Given the description of an element on the screen output the (x, y) to click on. 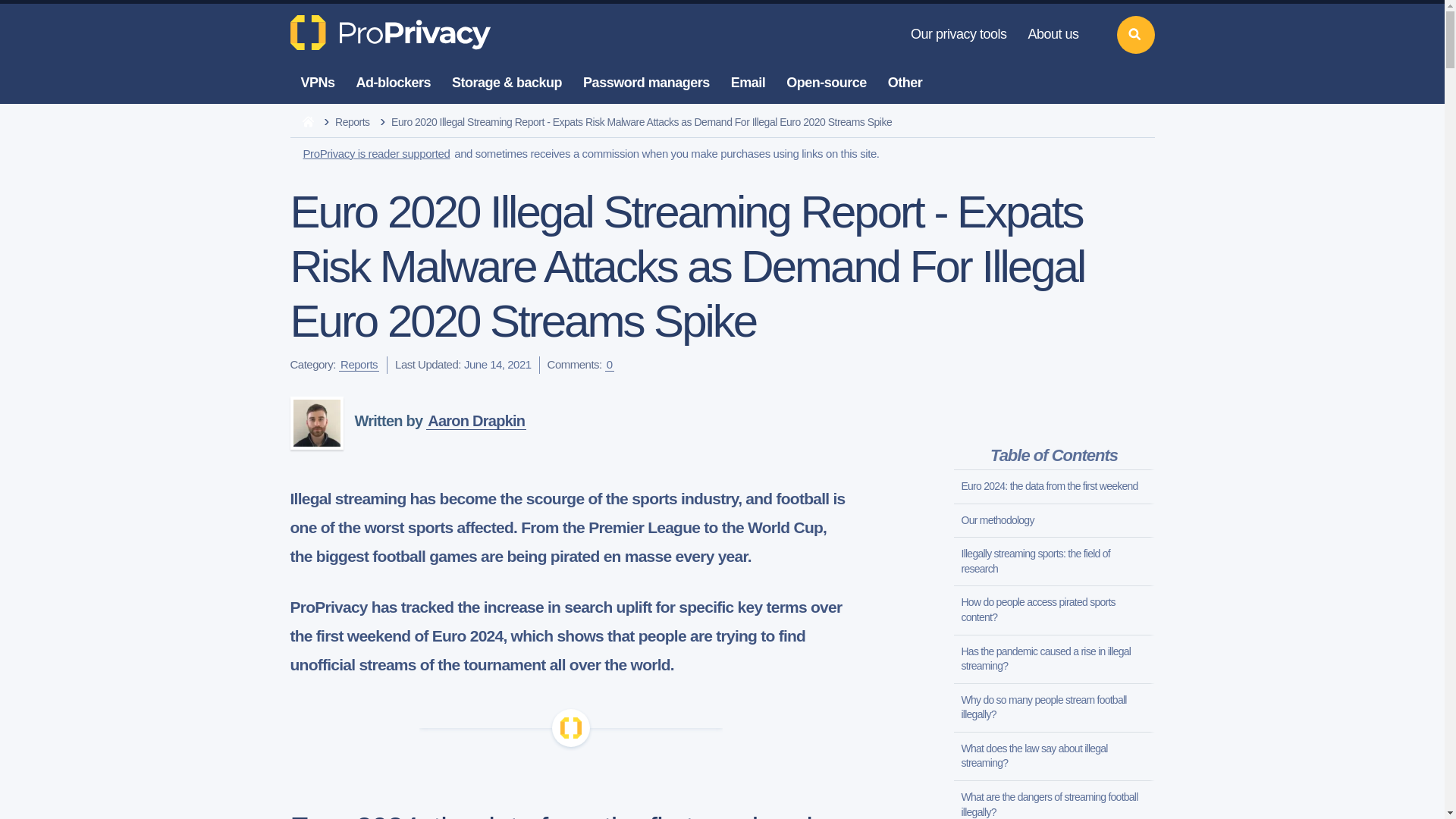
VPNs (317, 82)
Welcome to ProPrivacy! (392, 32)
Search (1135, 34)
Ad-blockers (394, 82)
Our privacy tools (958, 34)
About us (1052, 34)
Aaron Drapkin (315, 422)
